Given the description of an element on the screen output the (x, y) to click on. 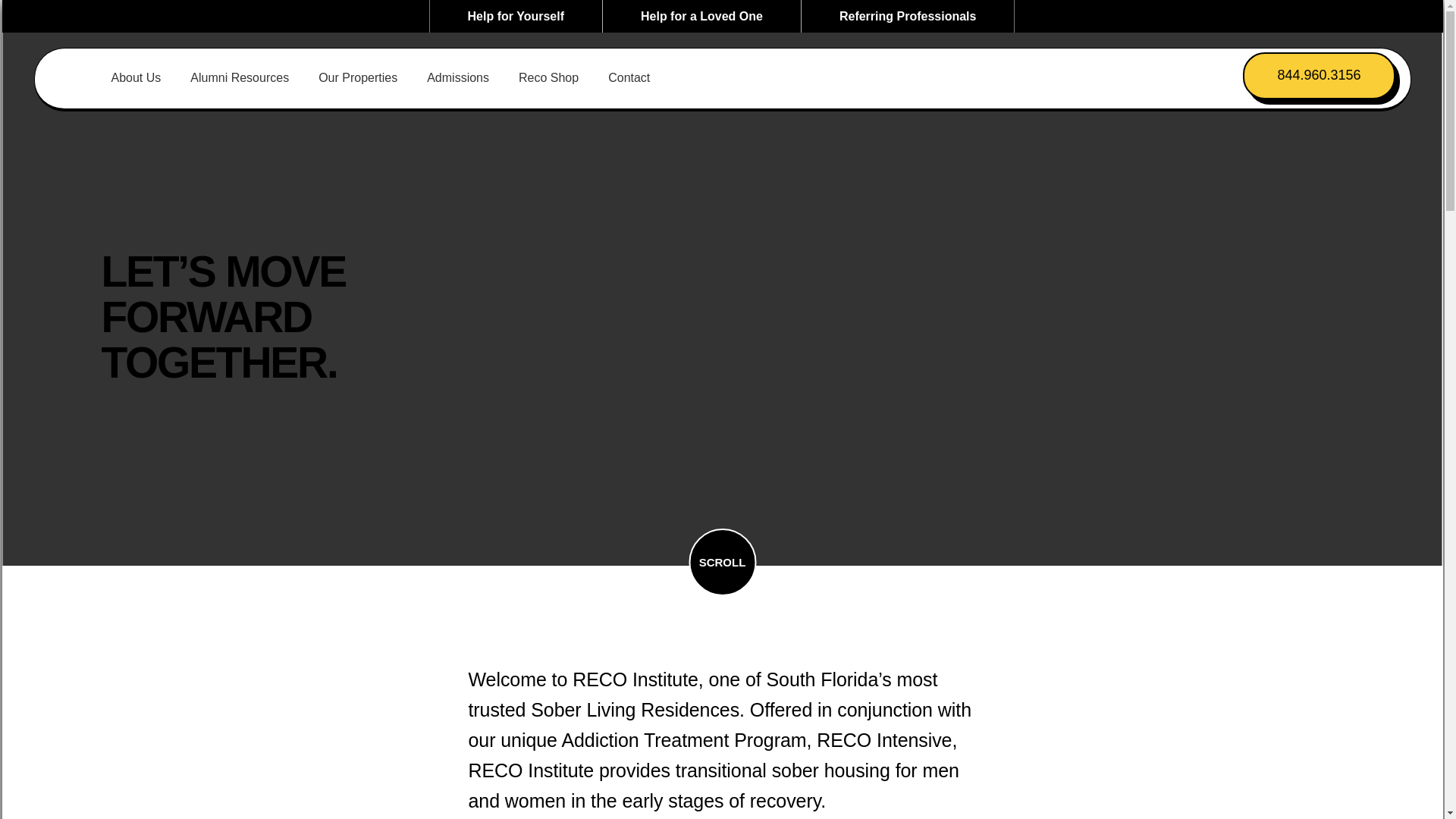
SCROLL (721, 562)
Our Properties (357, 77)
About Us (135, 77)
Reco Shop (548, 77)
Help for Yourself (515, 15)
Referring Professionals (908, 15)
Help for a Loved One (701, 15)
Alumni Resources (239, 77)
Admissions (457, 77)
